Given the description of an element on the screen output the (x, y) to click on. 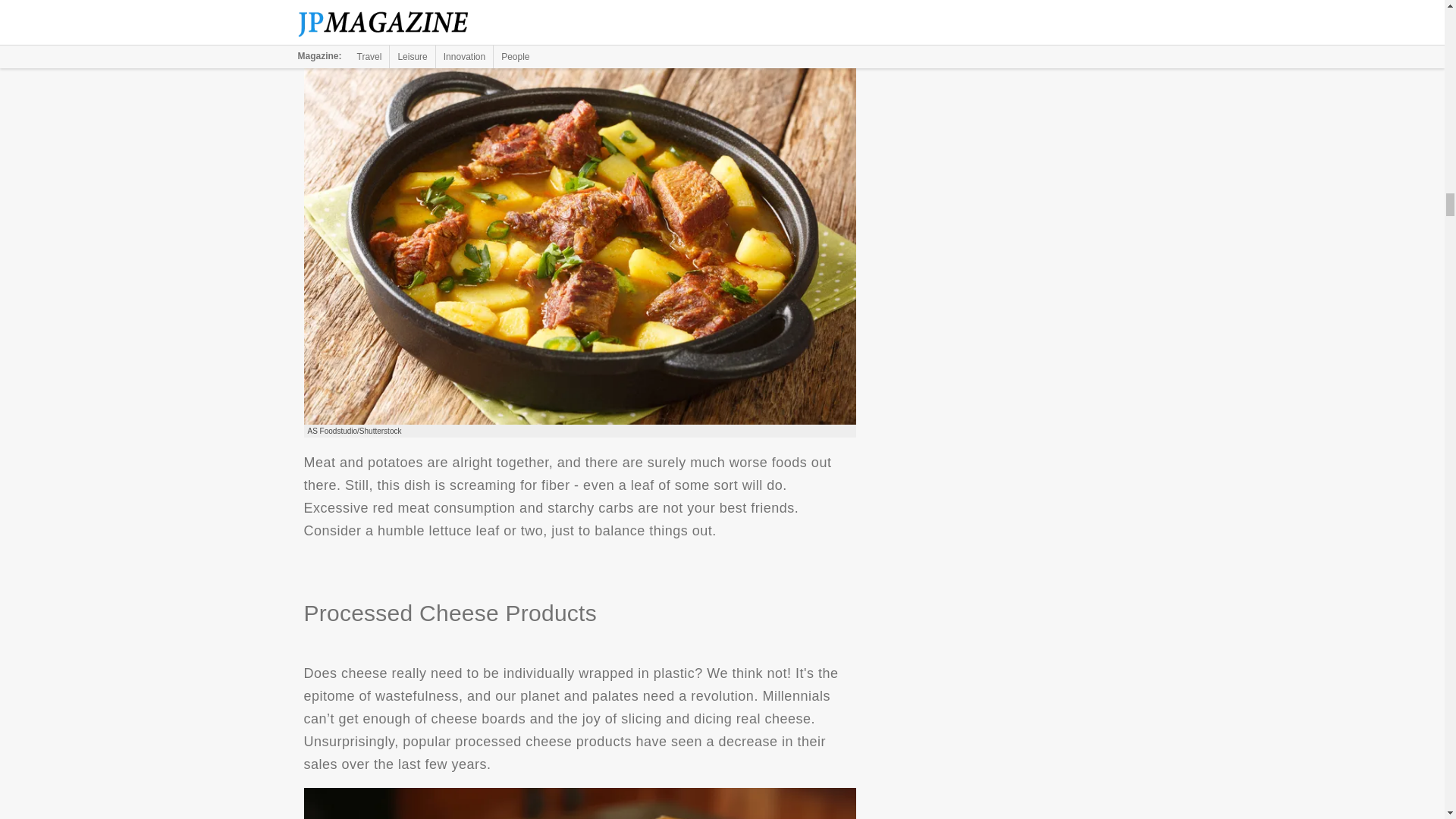
Processed Cheese Products (579, 803)
